Given the description of an element on the screen output the (x, y) to click on. 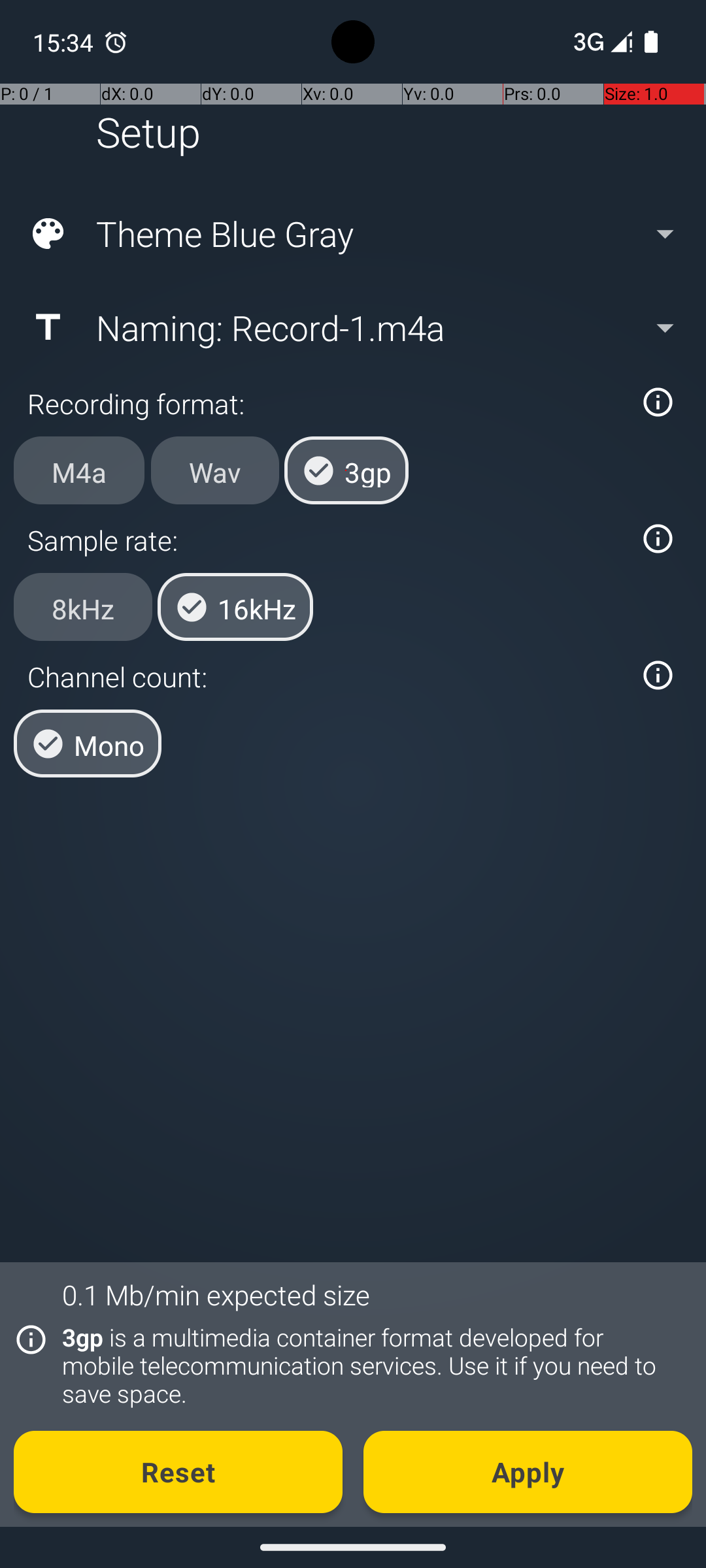
0.1 Mb/min expected size Element type: android.widget.TextView (215, 1294)
3gp is a multimedia container format developed for mobile telecommunication services. Use it if you need to save space. Element type: android.widget.TextView (370, 1364)
Clock notification: Missed alarm Element type: android.widget.ImageView (115, 41)
